Given the description of an element on the screen output the (x, y) to click on. 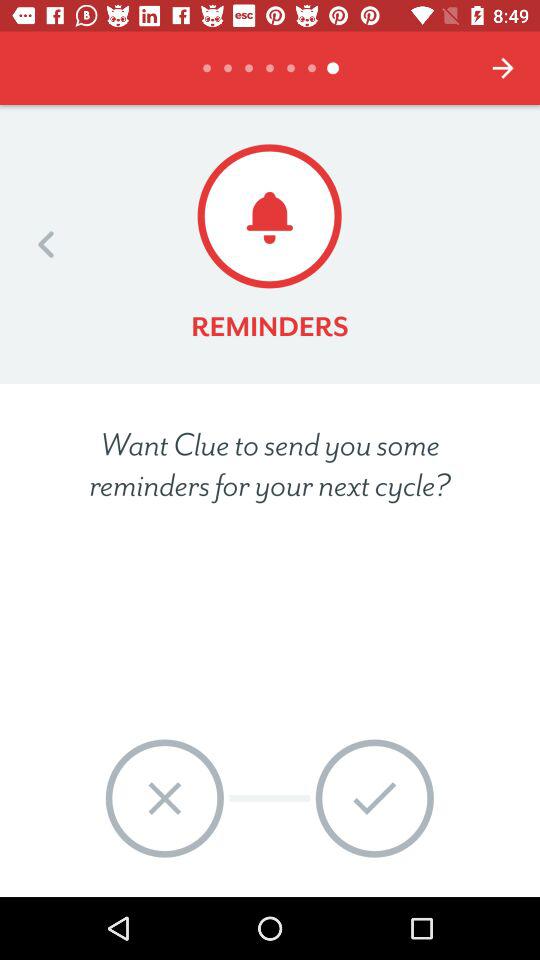
tap the item at the top left corner (46, 244)
